Given the description of an element on the screen output the (x, y) to click on. 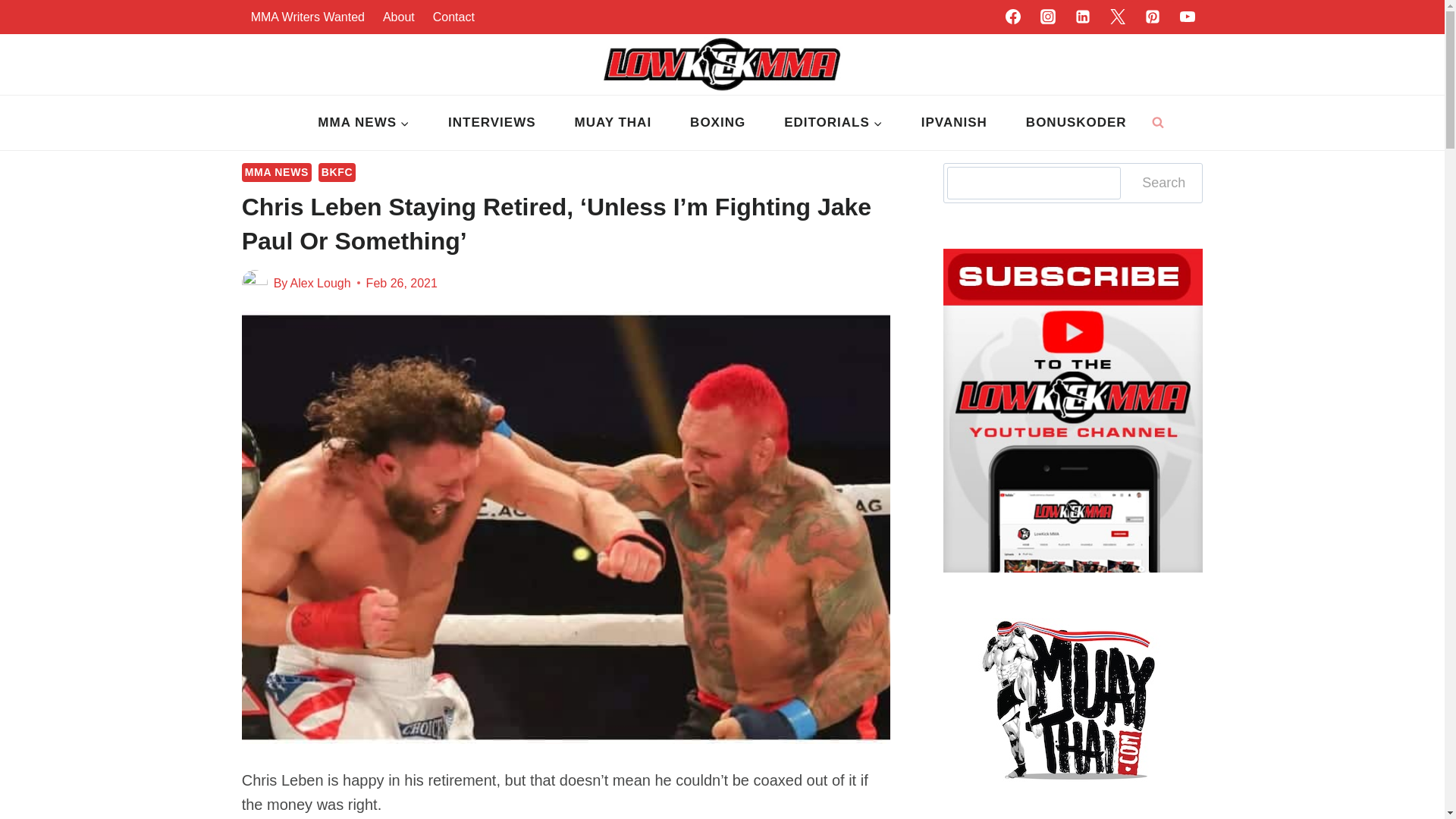
INTERVIEWS (491, 122)
EDITORIALS (833, 122)
BONUSKODER (1075, 122)
Contact (453, 17)
About (398, 17)
BOXING (718, 122)
MMA NEWS (363, 122)
MUAY THAI (612, 122)
MMA Writers Wanted (307, 17)
